Given the description of an element on the screen output the (x, y) to click on. 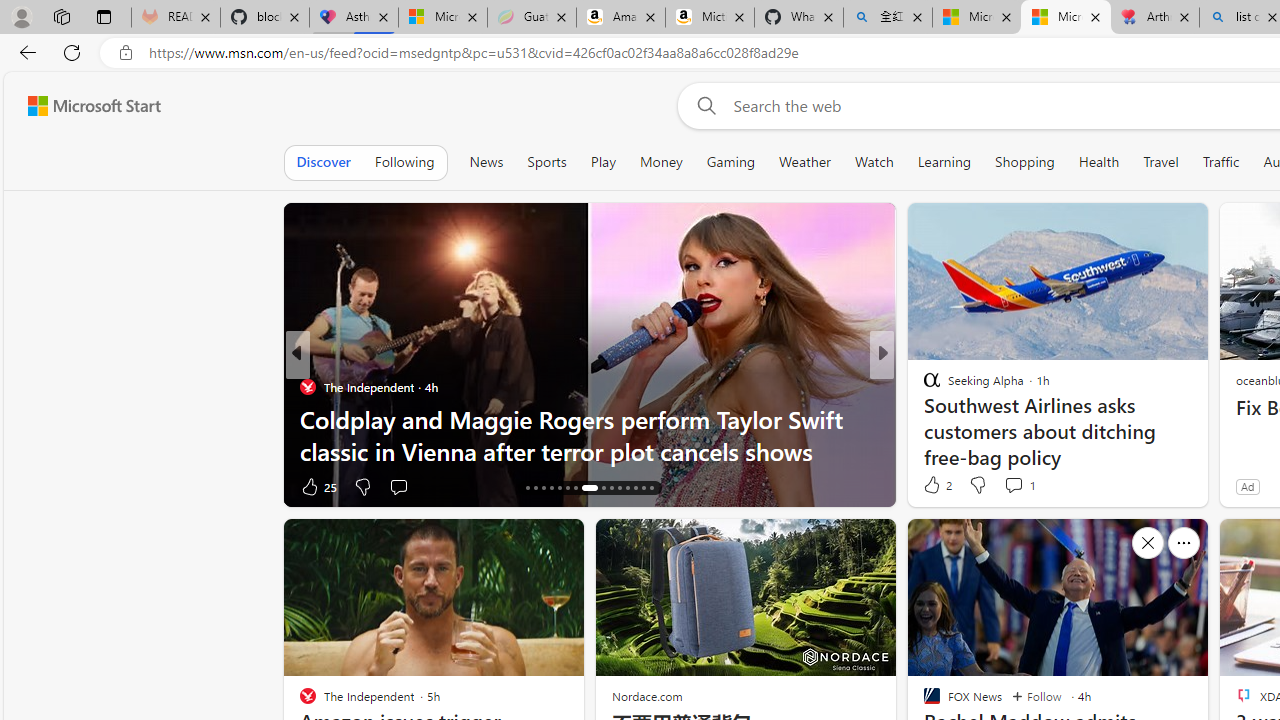
22 Like (934, 486)
Traffic (1220, 162)
AutomationID: tab-28 (635, 487)
News (486, 161)
16 Like (934, 486)
Health (1098, 162)
Money (661, 162)
Nordace.com (646, 696)
Traffic (1220, 161)
View comments 7 Comment (1026, 486)
Hide this story (1147, 542)
